Given the description of an element on the screen output the (x, y) to click on. 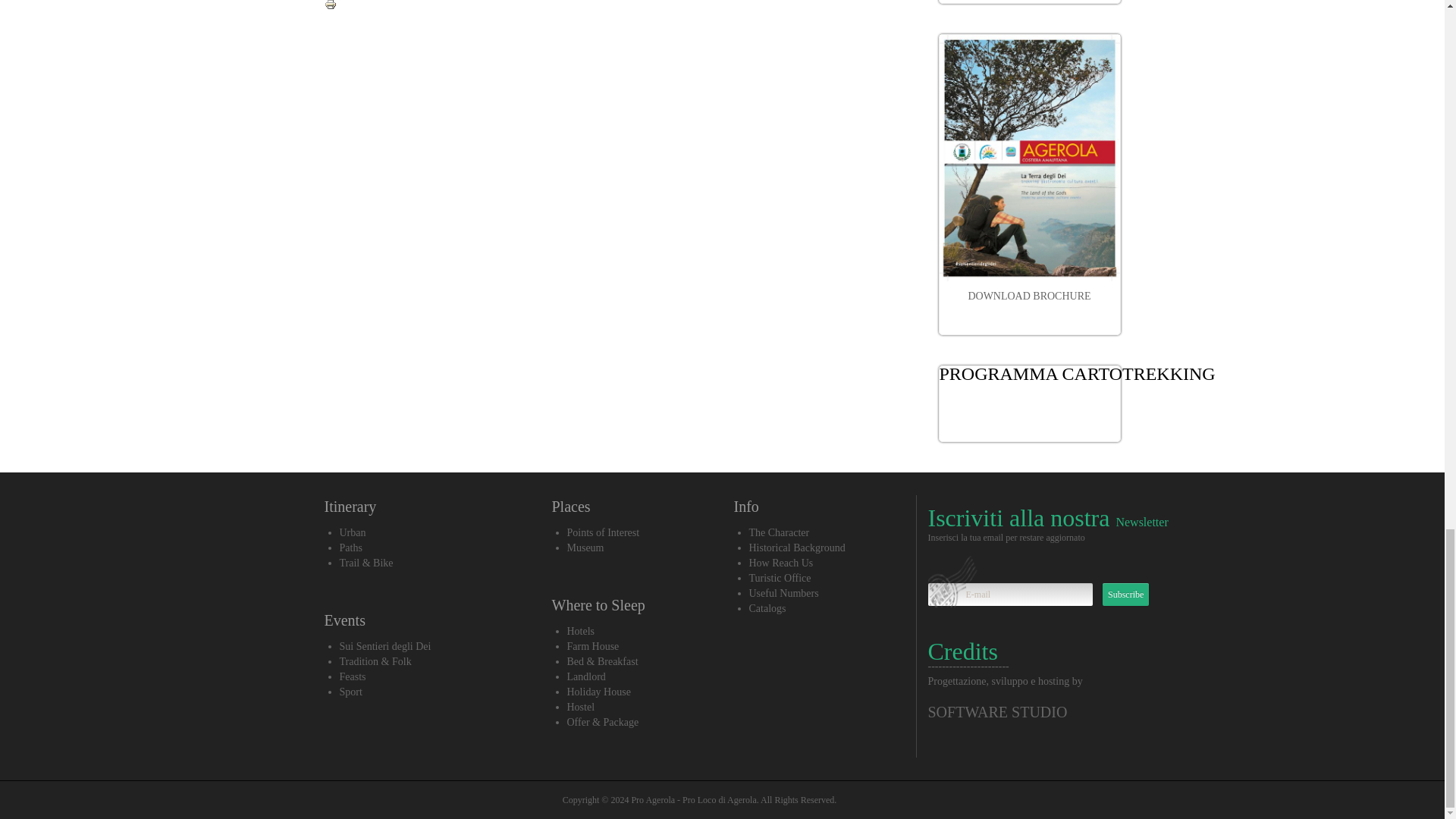
E-mail (1010, 594)
Subscribe (1125, 594)
Print (330, 4)
